Given the description of an element on the screen output the (x, y) to click on. 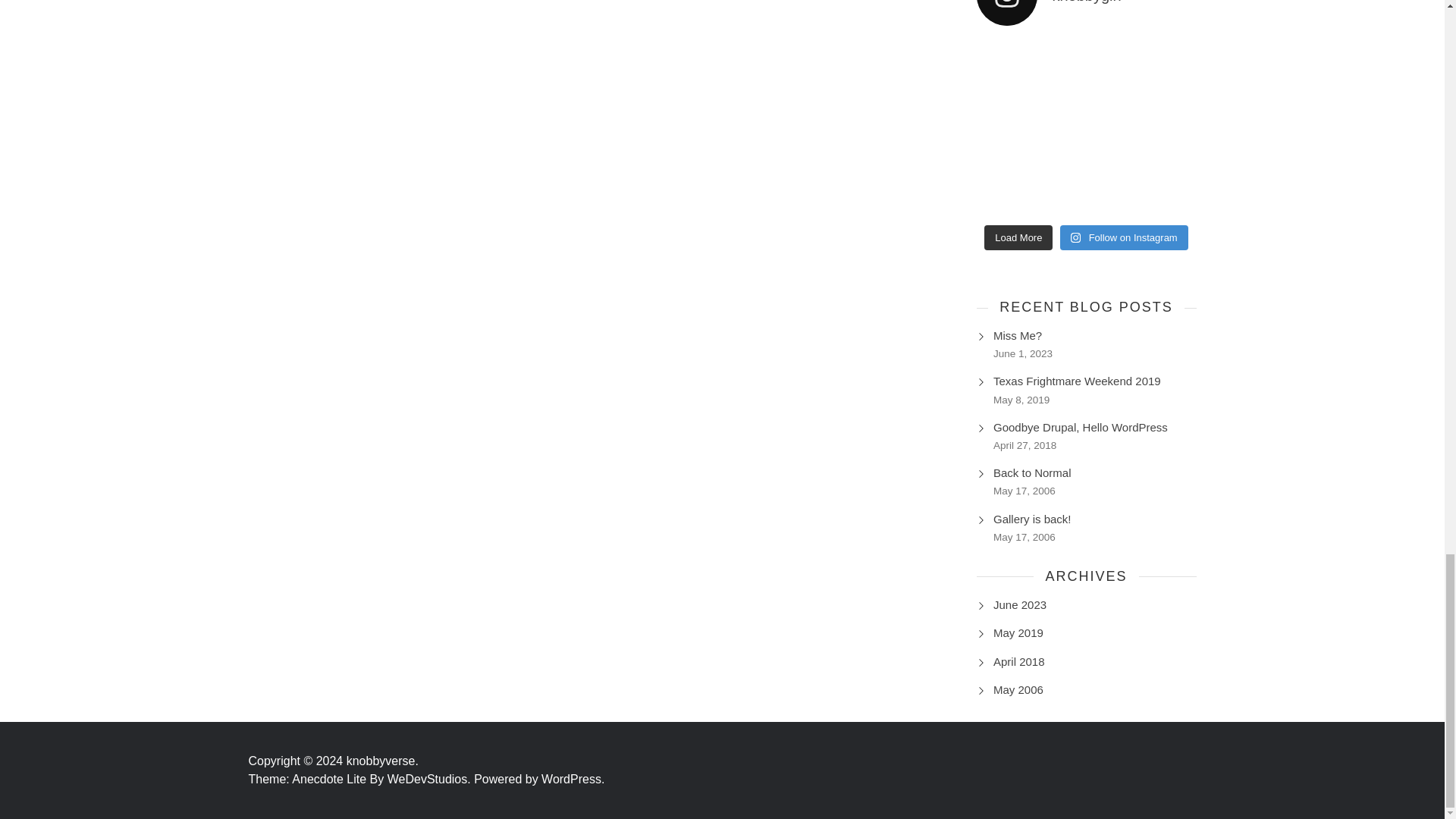
WordPress (572, 779)
knobbyverse (382, 760)
WeDevStudios (430, 779)
